Given the description of an element on the screen output the (x, y) to click on. 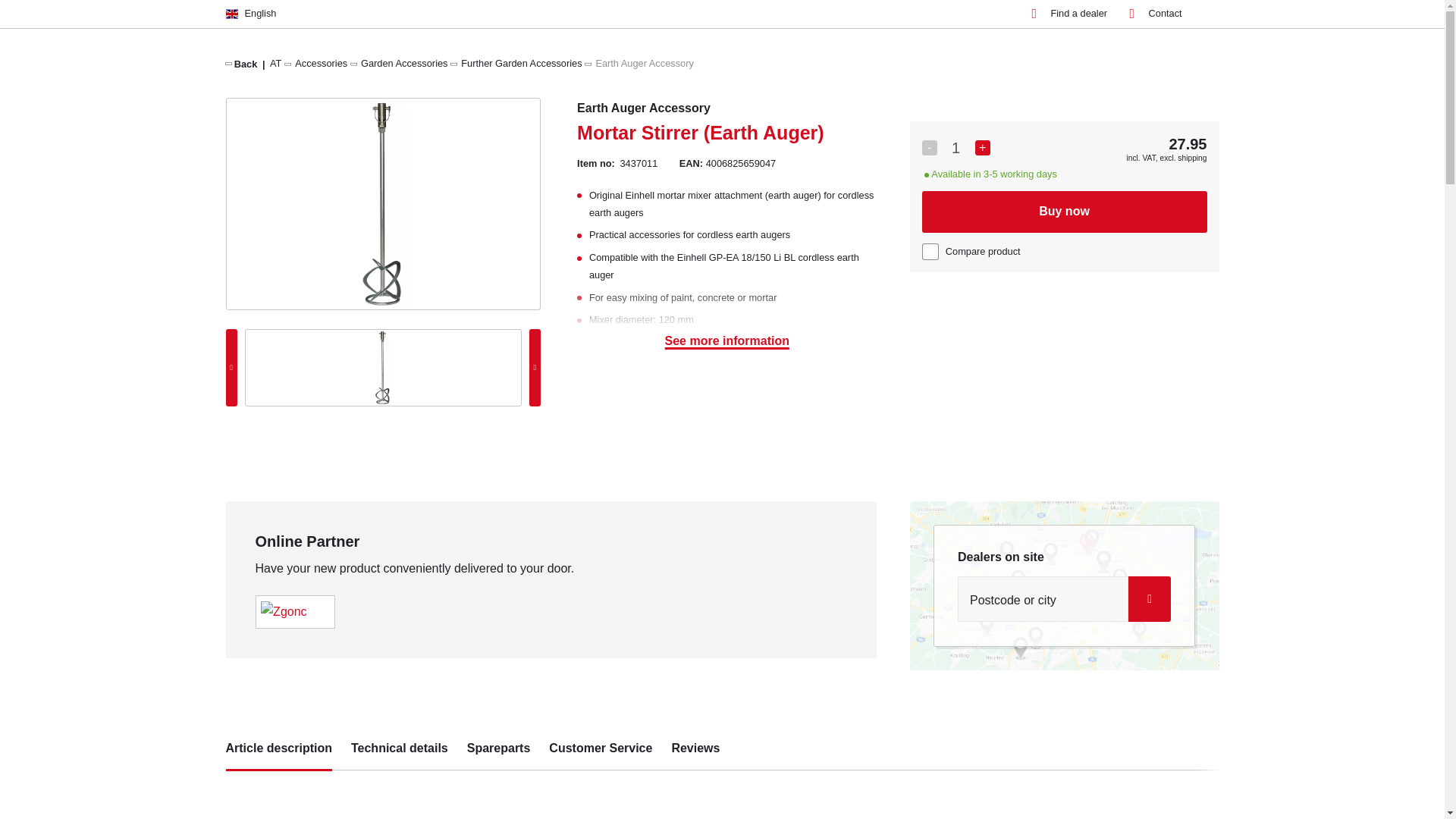
Accessories (321, 62)
Contact (1155, 13)
Find a dealer (1068, 13)
1 (956, 148)
Garden Accessories (404, 62)
Zgonc (282, 611)
Further Garden Accessories (520, 62)
AT (275, 62)
